Given the description of an element on the screen output the (x, y) to click on. 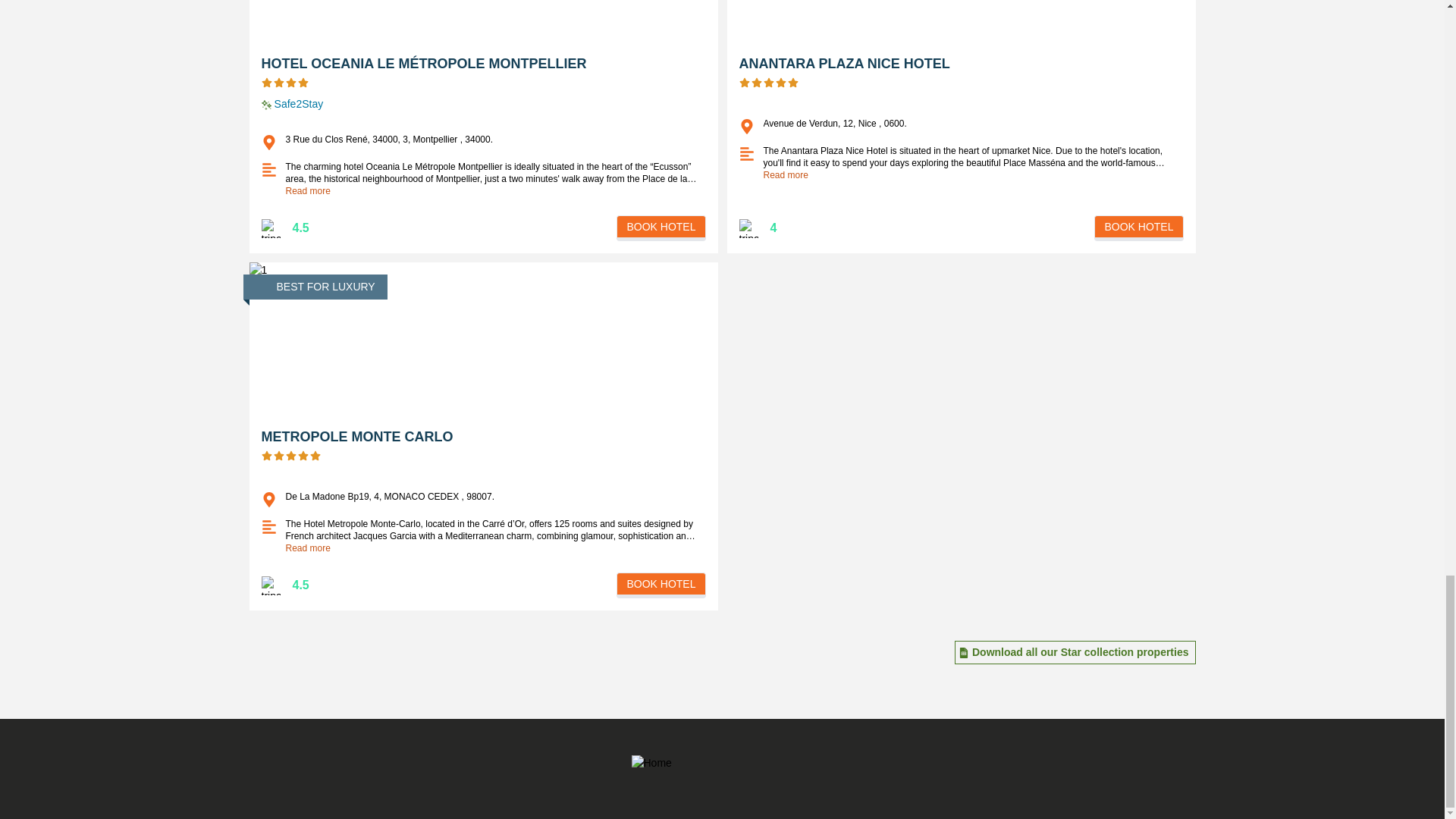
BOOK HOTEL (659, 227)
Download all our Star collection properties (1080, 652)
BOOK HOTEL (1138, 227)
BOOK HOTEL (659, 585)
